Given the description of an element on the screen output the (x, y) to click on. 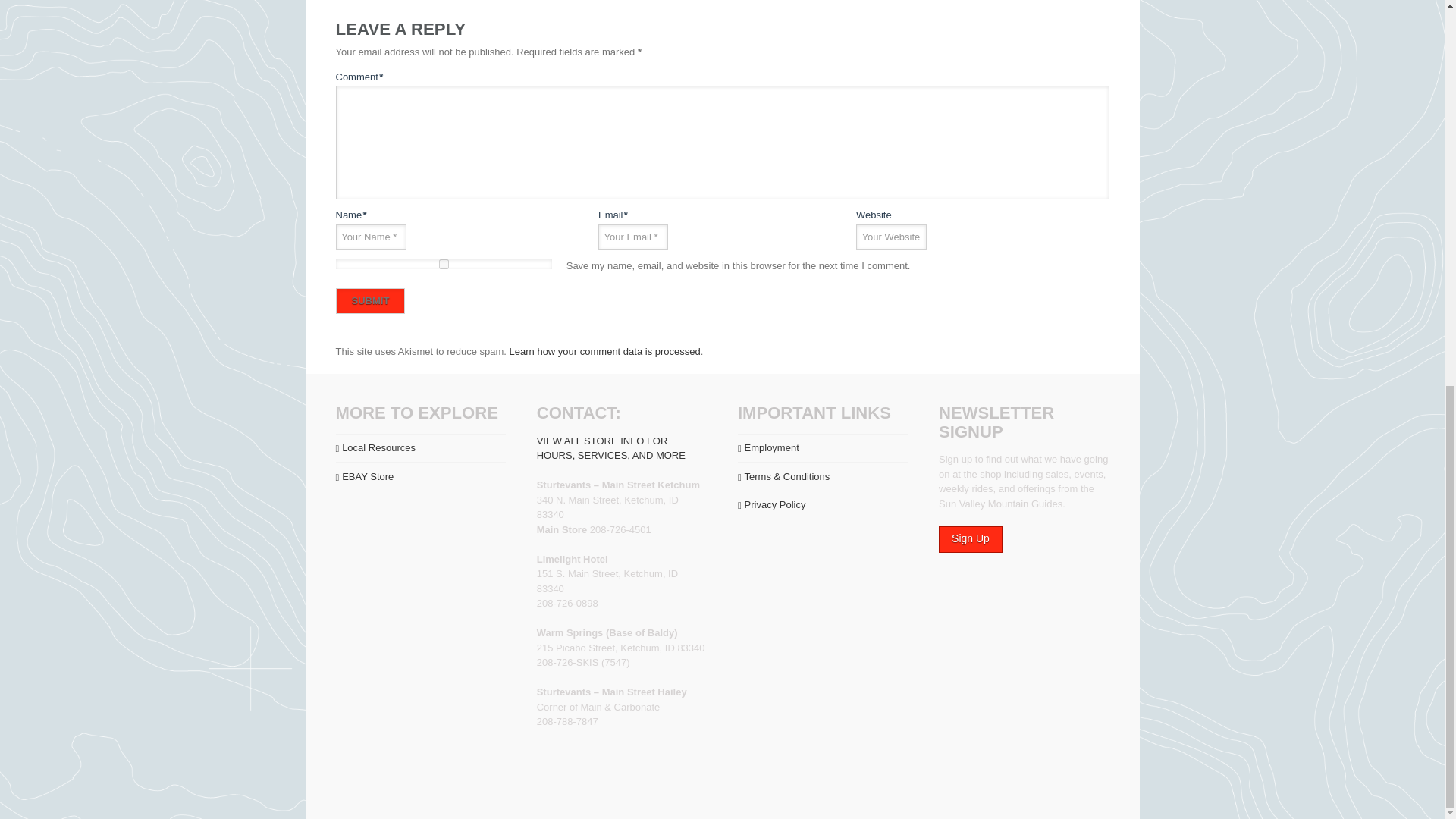
yes (442, 264)
newsletter (971, 539)
Submit (369, 300)
